Given the description of an element on the screen output the (x, y) to click on. 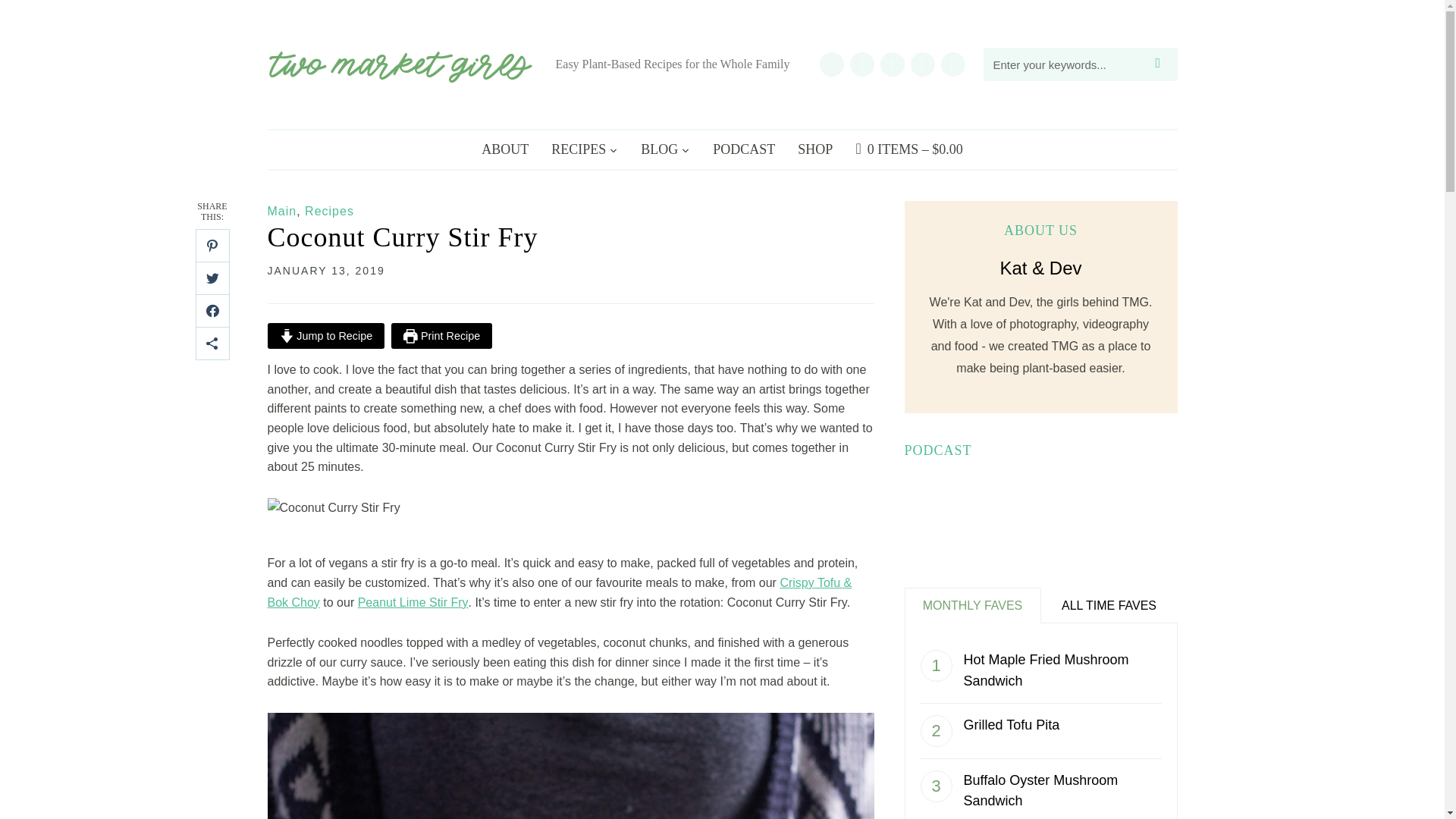
Click to share on Pinterest (212, 245)
Default Label (860, 62)
Search (1161, 64)
Search (1161, 64)
facebook (951, 62)
pinterest (891, 62)
Facebook (951, 62)
youtube (860, 62)
Default Label (891, 62)
Search (1161, 64)
Click to share on Facebook (212, 310)
twitter (922, 62)
Click to share on Twitter (212, 277)
Instagram (830, 62)
instagram (830, 62)
